Given the description of an element on the screen output the (x, y) to click on. 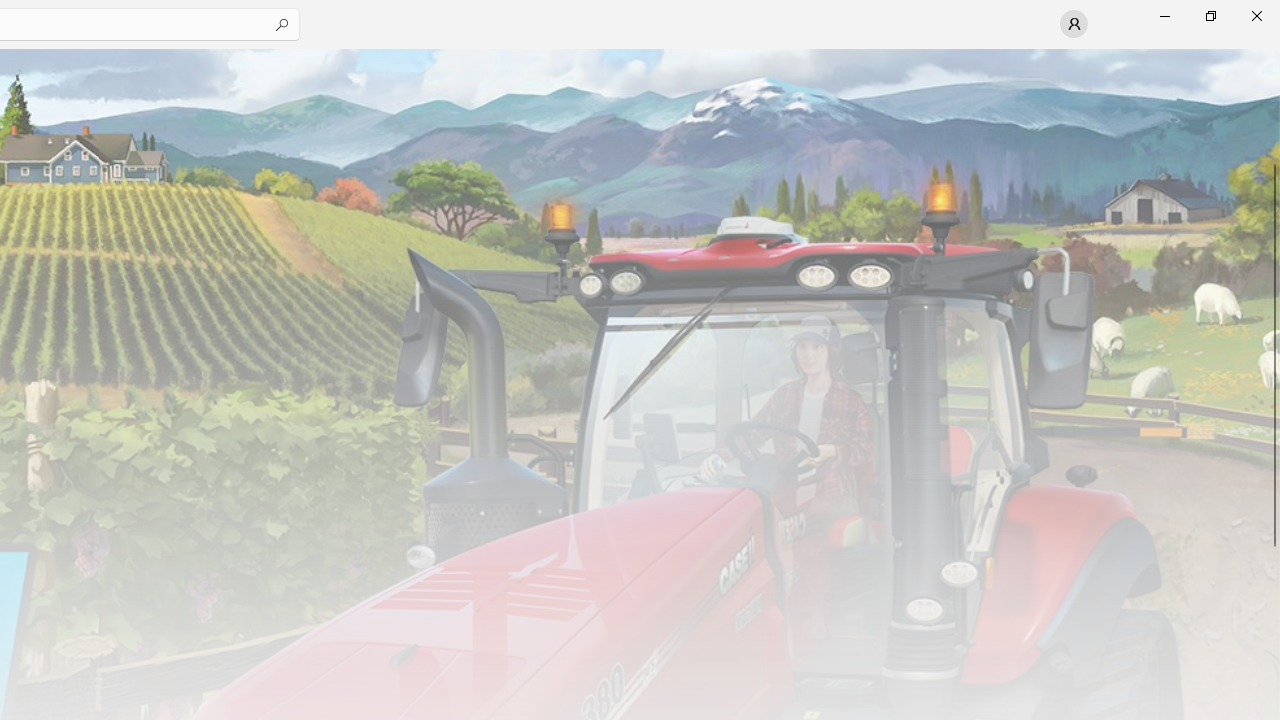
Vertical Small Decrease (1272, 55)
Vertical Large Decrease (1272, 110)
